Given the description of an element on the screen output the (x, y) to click on. 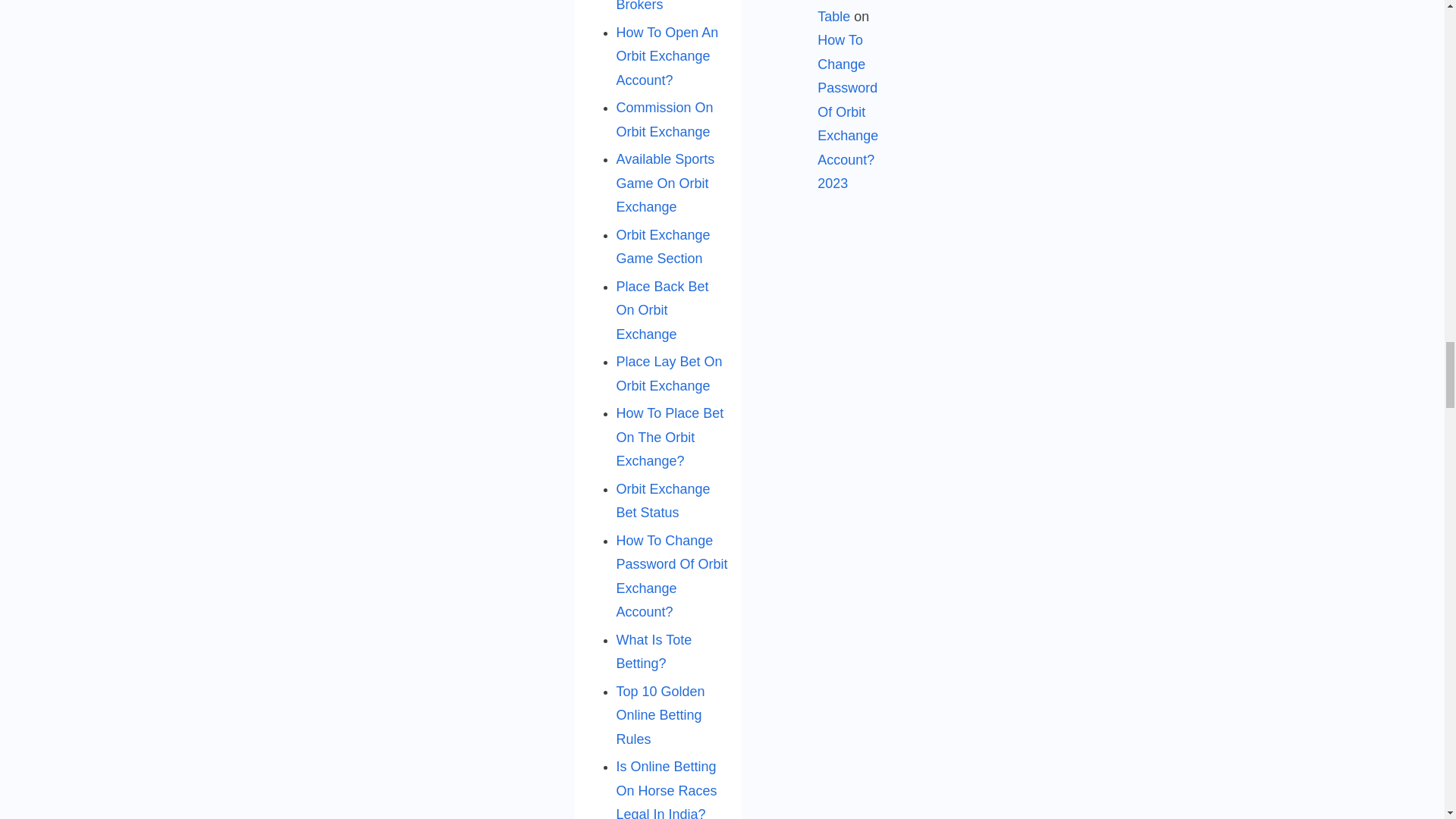
How To Open An Orbit Exchange Account? (666, 56)
Orbit Exchange Brokers (662, 6)
Commission On Orbit Exchange (664, 119)
